Given the description of an element on the screen output the (x, y) to click on. 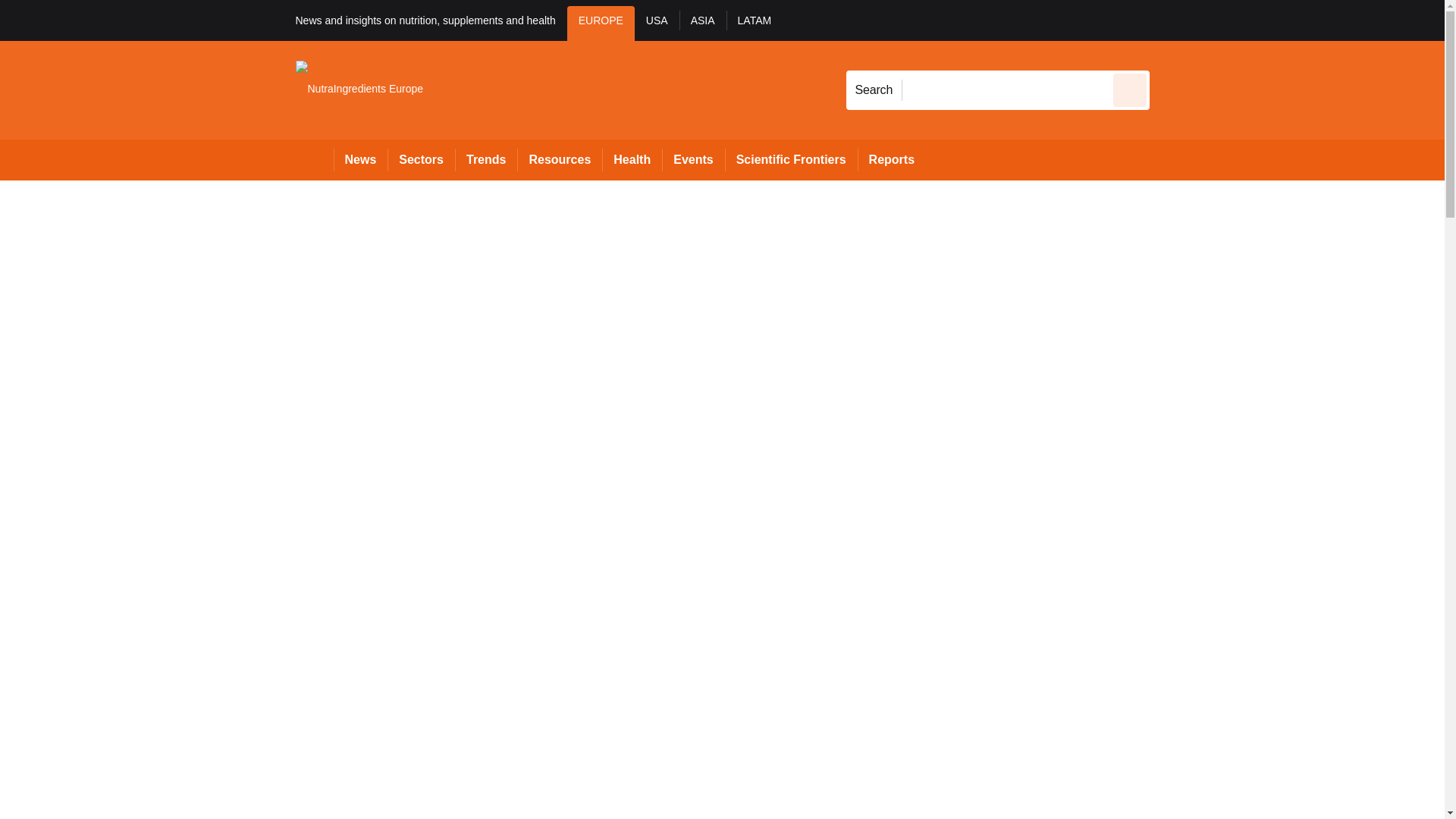
Send (1129, 90)
NutraIngredients Europe (359, 89)
Sectors (420, 159)
USA (656, 22)
Register (1231, 20)
Home (314, 159)
My account (1256, 20)
Sign out (1174, 20)
EUROPE (600, 22)
LATAM (754, 22)
